Given the description of an element on the screen output the (x, y) to click on. 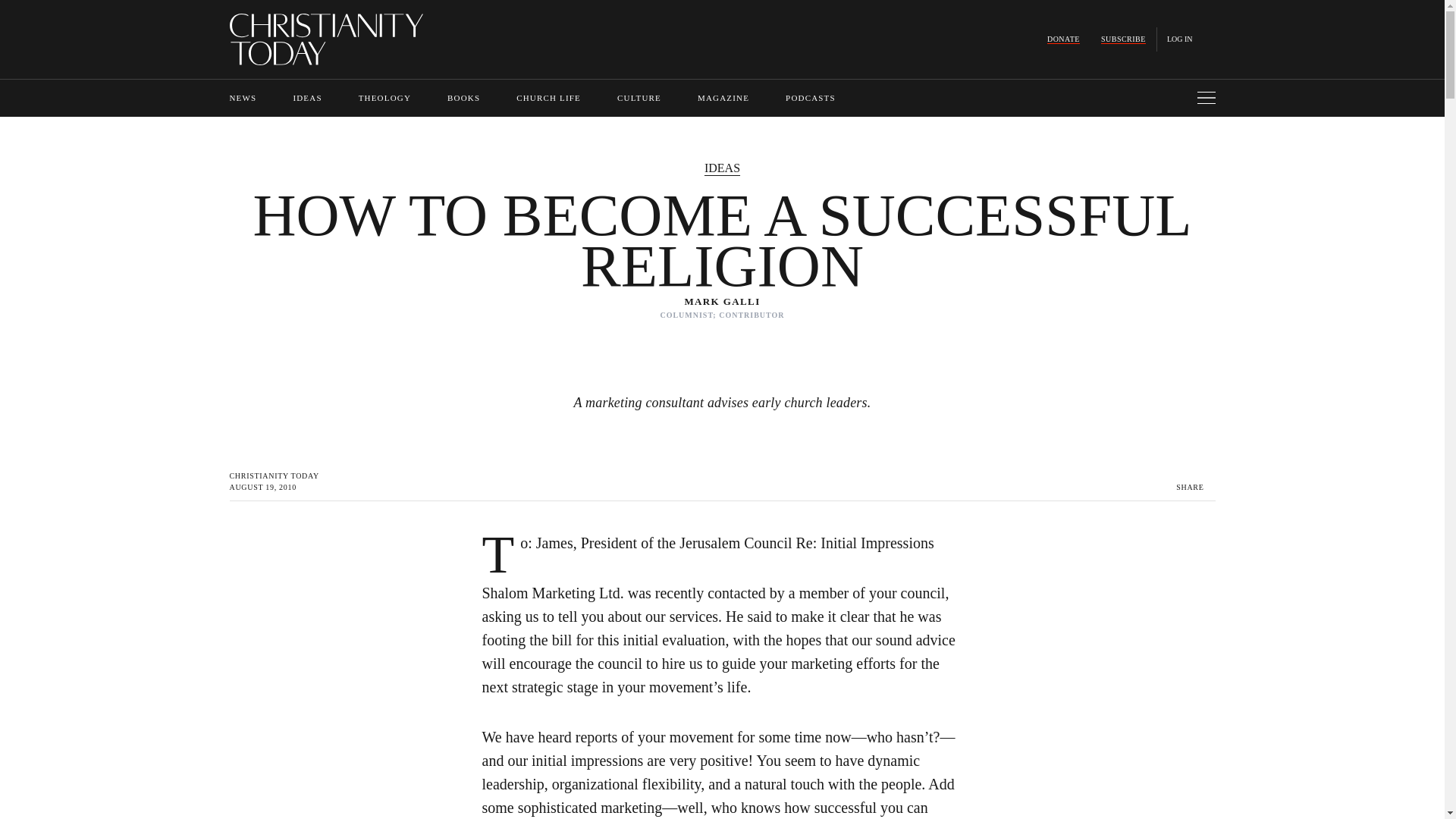
MAGAZINE (723, 97)
IDEAS (306, 97)
CHURCH LIFE (548, 97)
SUBSCRIBE (1122, 39)
BOOKS (463, 97)
LOG IN (1179, 39)
NEWS (242, 97)
CULTURE (639, 97)
THEOLOGY (384, 97)
DONATE (1063, 39)
